Given the description of an element on the screen output the (x, y) to click on. 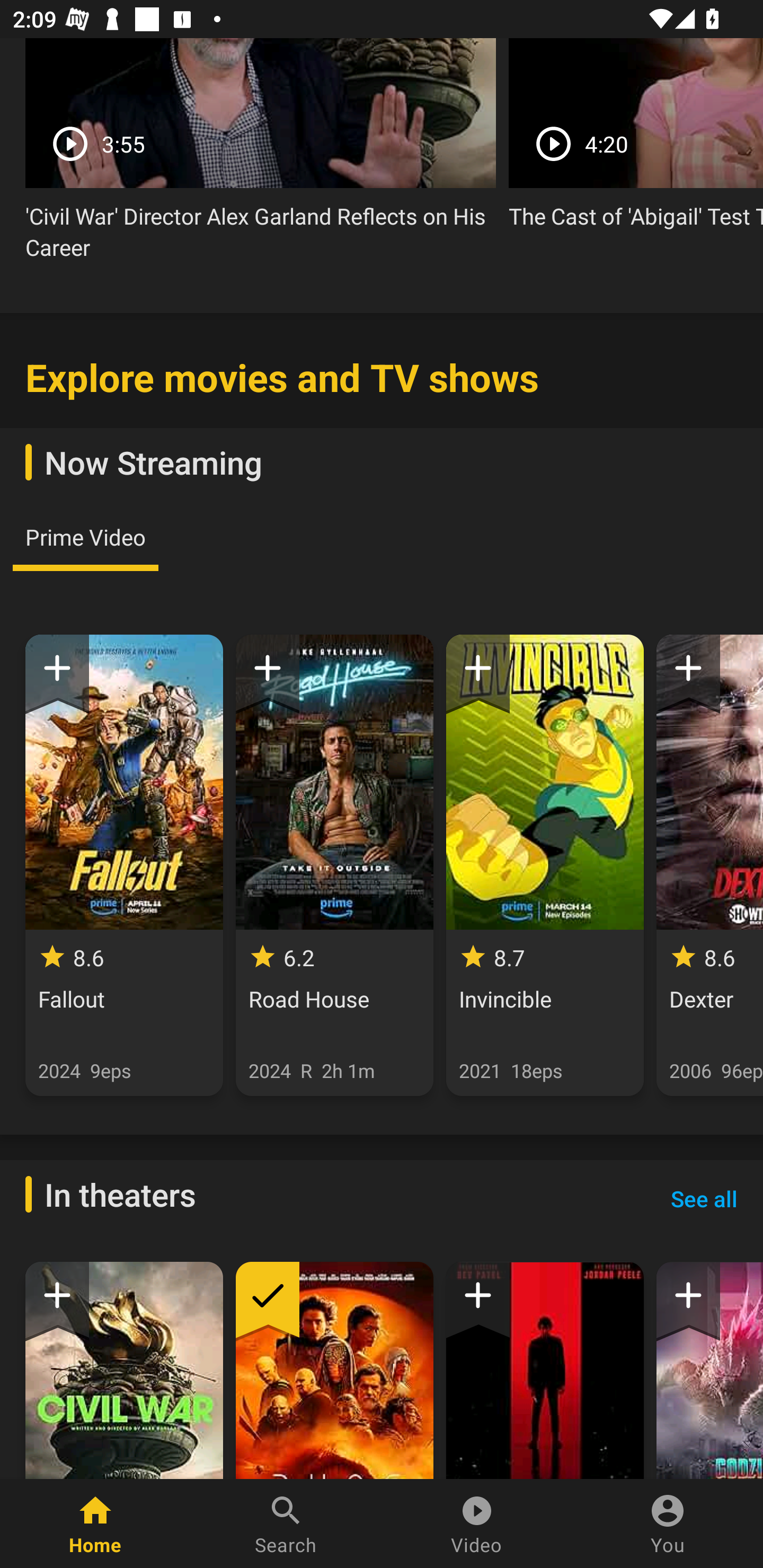
4:20 The Cast of 'Abigail' Test Their Vampire IQ (635, 140)
Prime Video (85, 536)
8.6 Fallout 2024  9eps (123, 865)
6.2 Road House 2024  R  2h 1m (334, 865)
8.7 Invincible 2021  18eps (544, 865)
See all See all In theaters (703, 1198)
Search (285, 1523)
Video (476, 1523)
You (667, 1523)
